Given the description of an element on the screen output the (x, y) to click on. 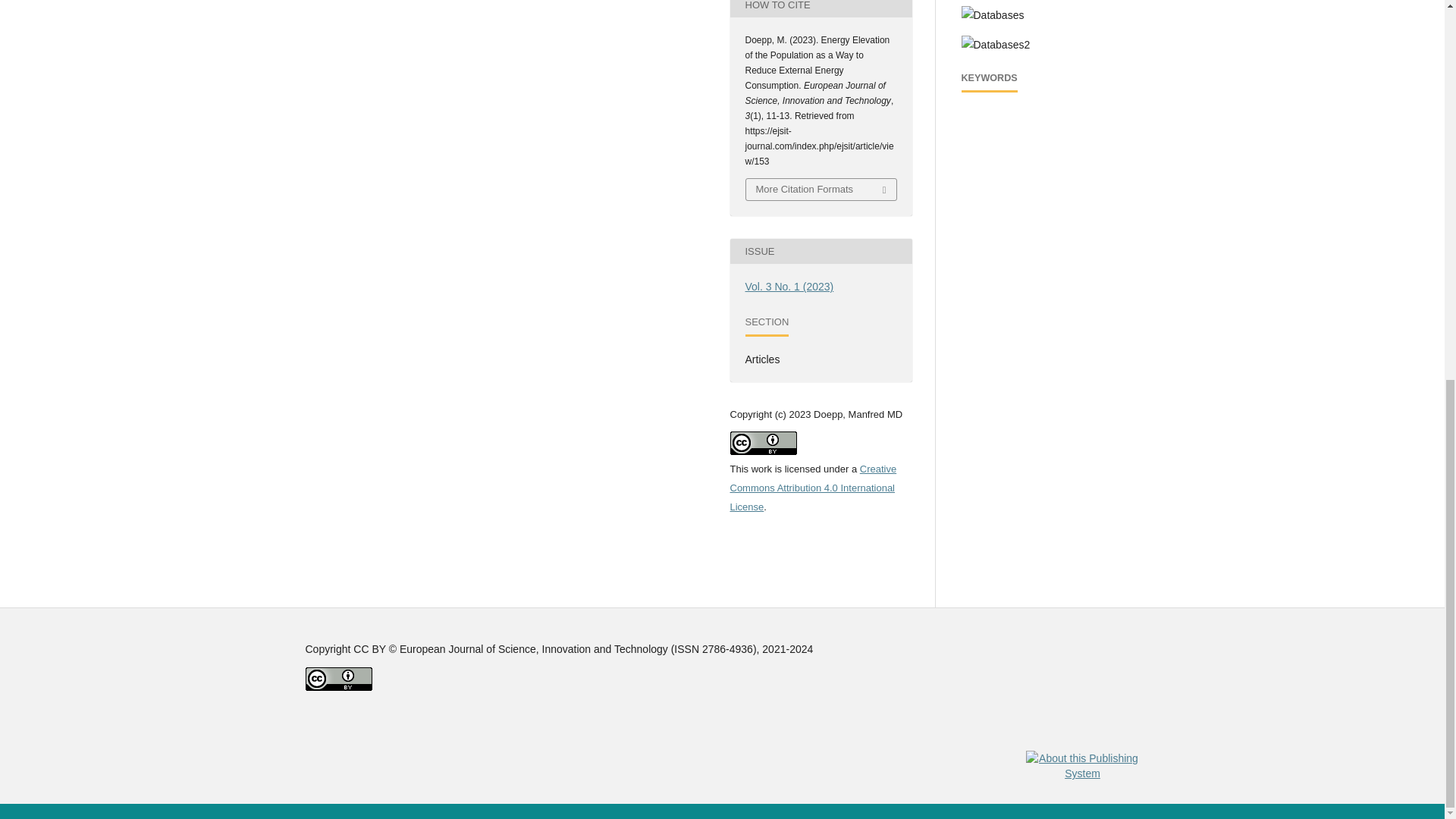
More Citation Formats (820, 189)
Databases2 (995, 45)
Databases (992, 15)
